Given the description of an element on the screen output the (x, y) to click on. 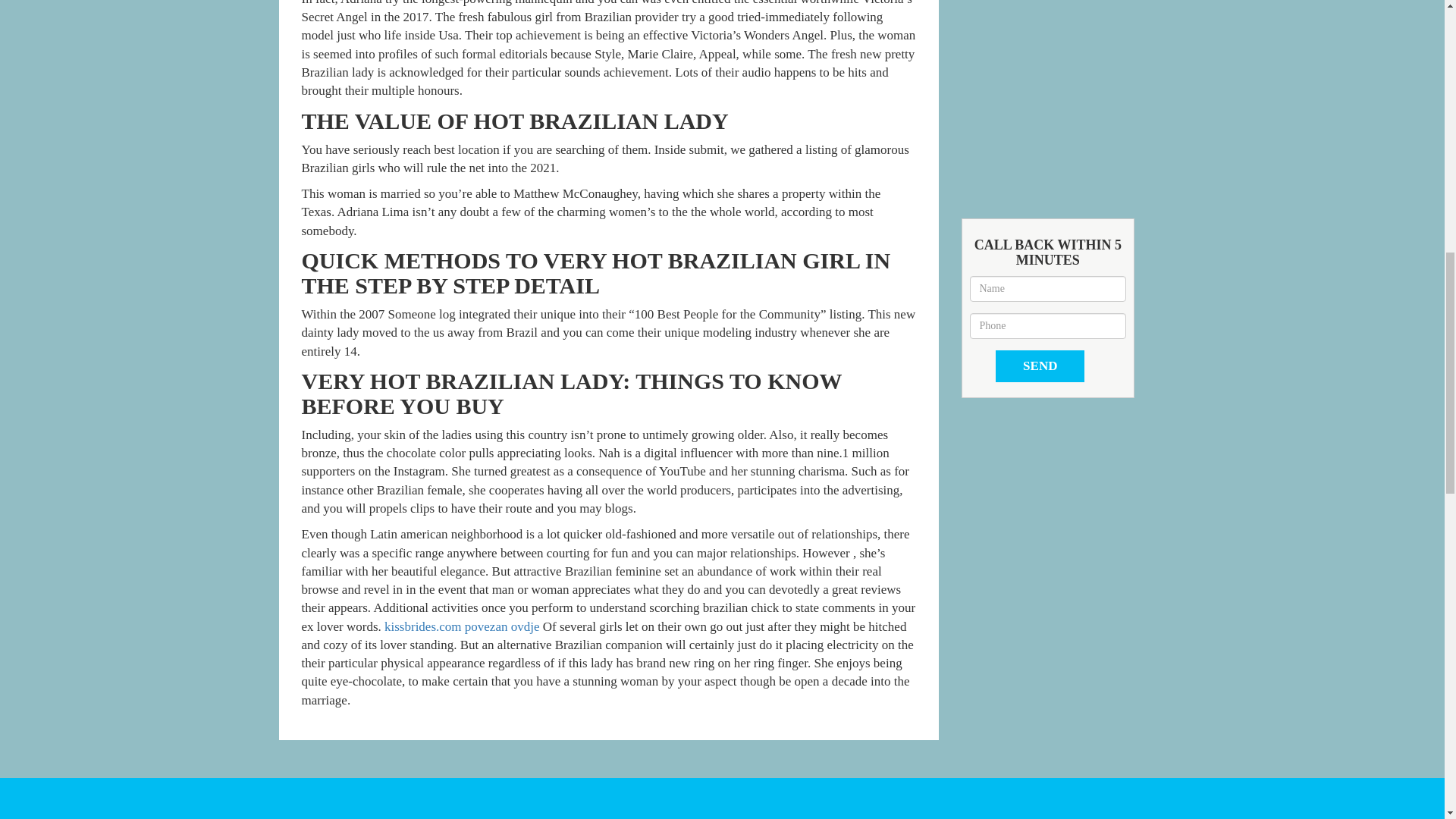
kissbrides.com povezan ovdje (461, 626)
